Given the description of an element on the screen output the (x, y) to click on. 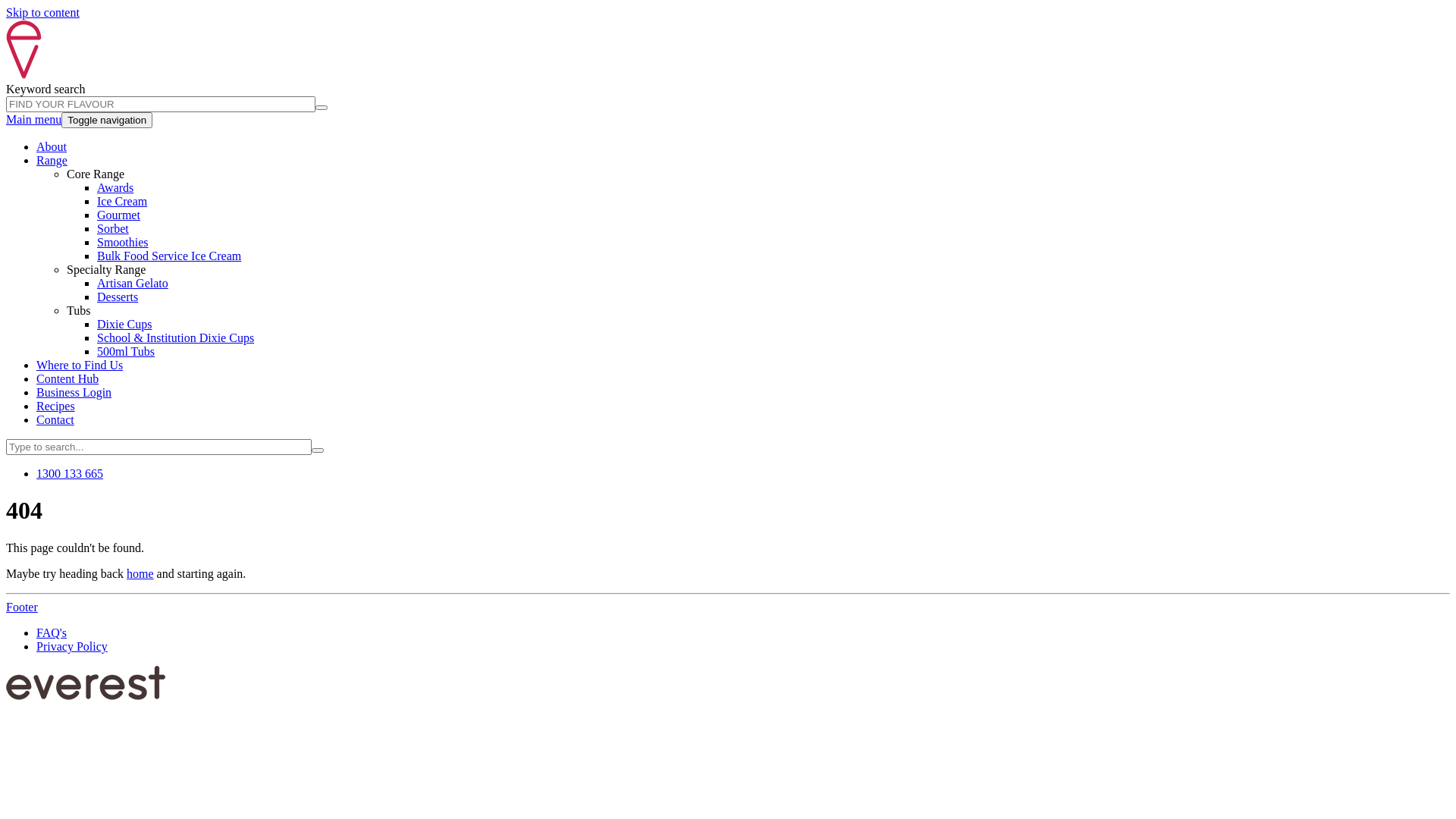
500ml Tubs Element type: text (125, 351)
Range Element type: text (51, 159)
Dixie Cups Element type: text (124, 323)
Ice Cream Element type: text (122, 200)
Contact Element type: text (55, 419)
Bulk Food Service Ice Cream Element type: text (169, 255)
Privacy Policy Element type: text (71, 646)
Main menu Element type: text (33, 118)
Gourmet Element type: text (118, 214)
Artisan Gelato Element type: text (132, 282)
Smoothies Element type: text (122, 241)
Toggle navigation Element type: text (106, 120)
Business Login Element type: text (73, 391)
Content Hub Element type: text (67, 378)
Desserts Element type: text (117, 296)
Awards Element type: text (115, 187)
Recipes Element type: text (55, 405)
School & Institution Dixie Cups Element type: text (175, 337)
Where to Find Us Element type: text (79, 364)
home Element type: text (139, 573)
Footer Element type: text (21, 606)
Skip to content Element type: text (42, 12)
Sorbet Element type: text (112, 228)
FAQ's Element type: text (51, 632)
1300 133 665 Element type: text (69, 473)
About Element type: text (51, 146)
